Given the description of an element on the screen output the (x, y) to click on. 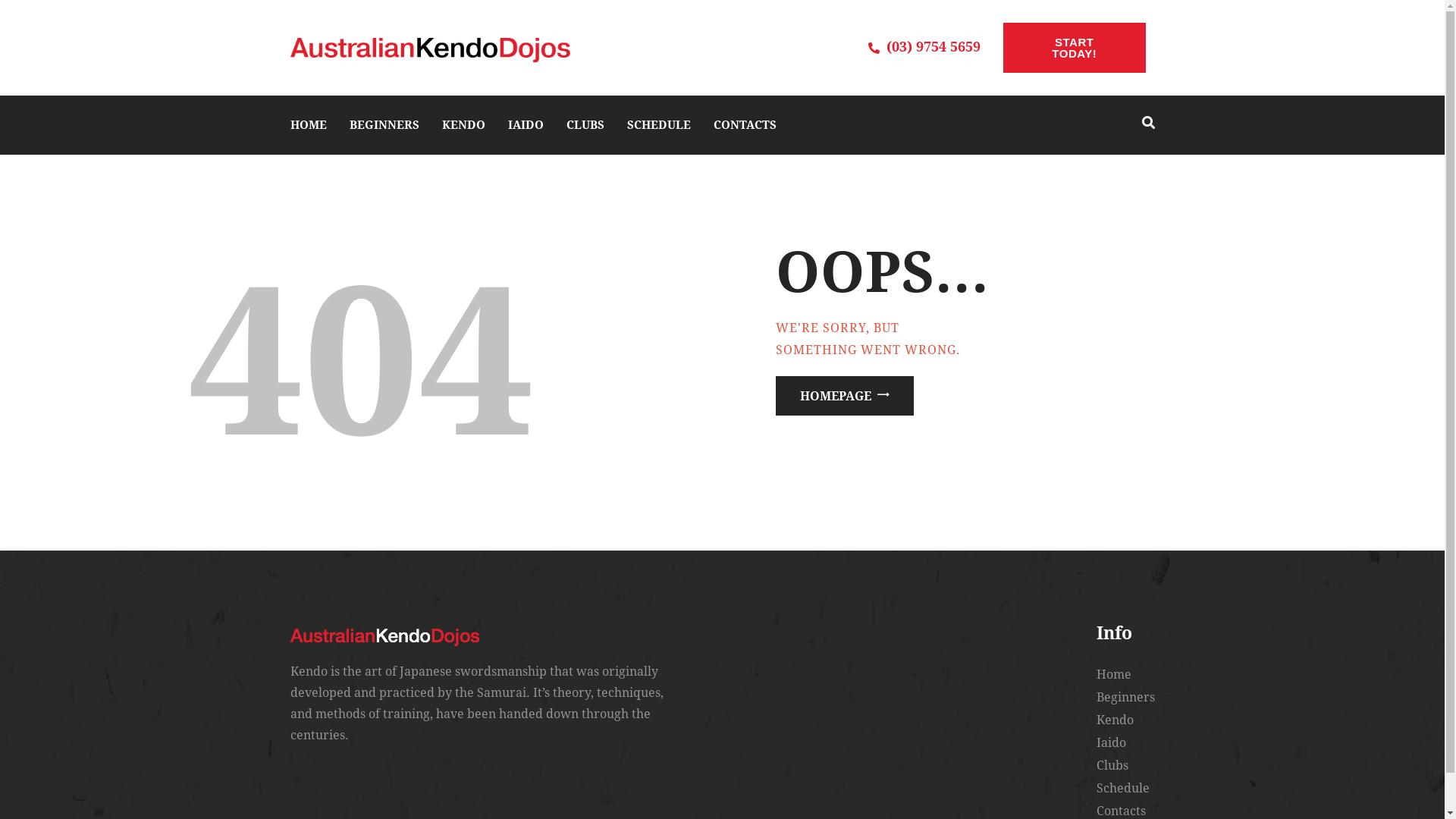
SCHEDULE Element type: text (658, 125)
Clubs Element type: text (1125, 765)
(03) 9754 5659 Element type: text (924, 47)
Kendo Element type: text (1125, 720)
CONTACTS Element type: text (743, 125)
Beginners Element type: text (1125, 697)
Iaido Element type: text (1125, 742)
IAIDO Element type: text (525, 125)
HOMEPAGE Element type: text (844, 395)
BEGINNERS Element type: text (383, 125)
CLUBS Element type: text (584, 125)
Schedule Element type: text (1125, 788)
HOME Element type: text (307, 125)
KENDO Element type: text (462, 125)
START TODAY! Element type: text (1074, 47)
Home Element type: text (1125, 674)
